Given the description of an element on the screen output the (x, y) to click on. 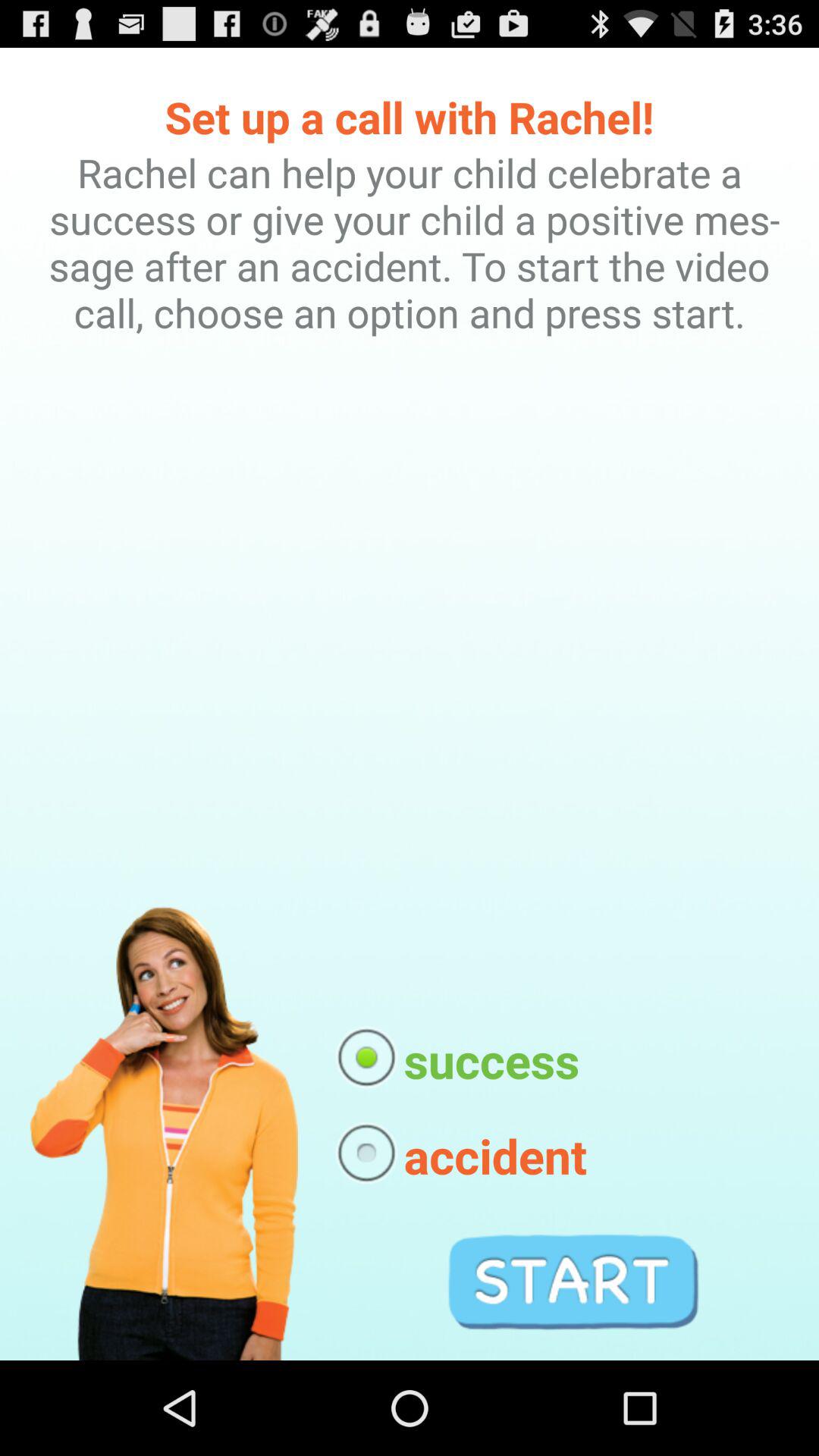
tap the icon at the bottom right corner (573, 1281)
